Given the description of an element on the screen output the (x, y) to click on. 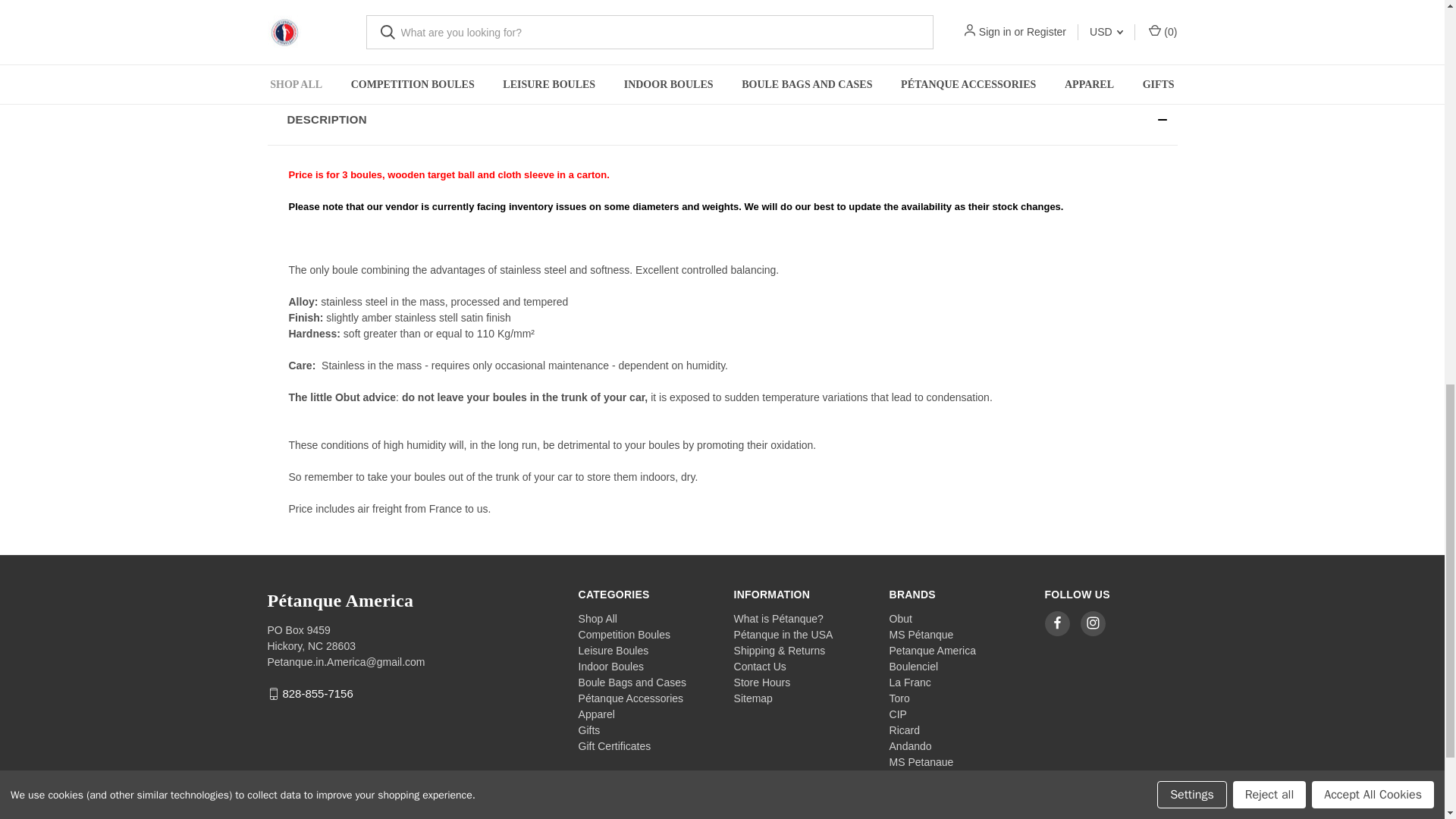
Twitter (915, 47)
Facebook (829, 47)
Add to Cart (890, 9)
Pinterest (944, 47)
Print (887, 47)
Email (858, 47)
